Given the description of an element on the screen output the (x, y) to click on. 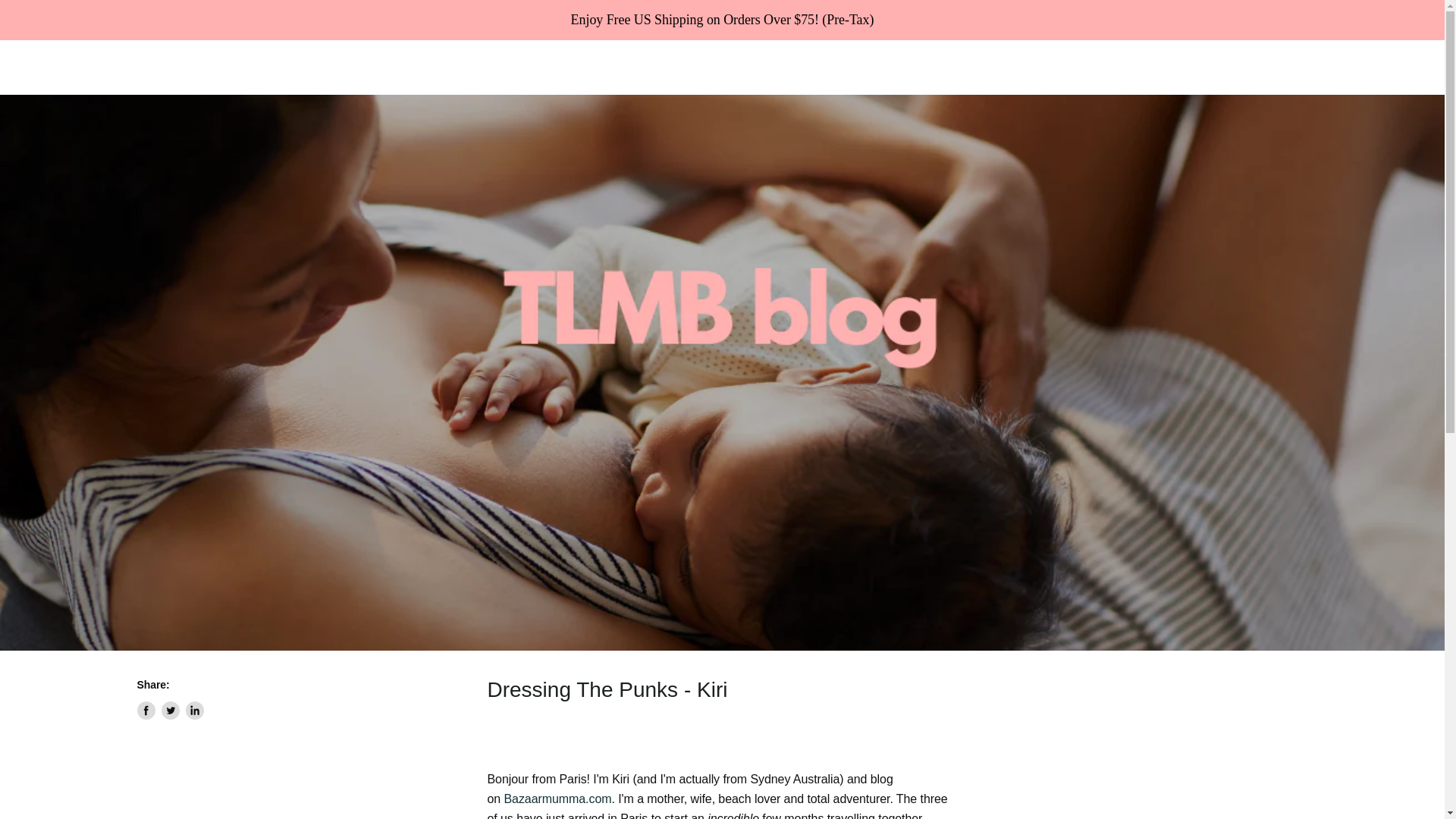
Share on LinkedIn (193, 710)
Share on Facebook (145, 710)
Tweet on Twitter (169, 710)
Bazaarmumma.com (557, 798)
